Given the description of an element on the screen output the (x, y) to click on. 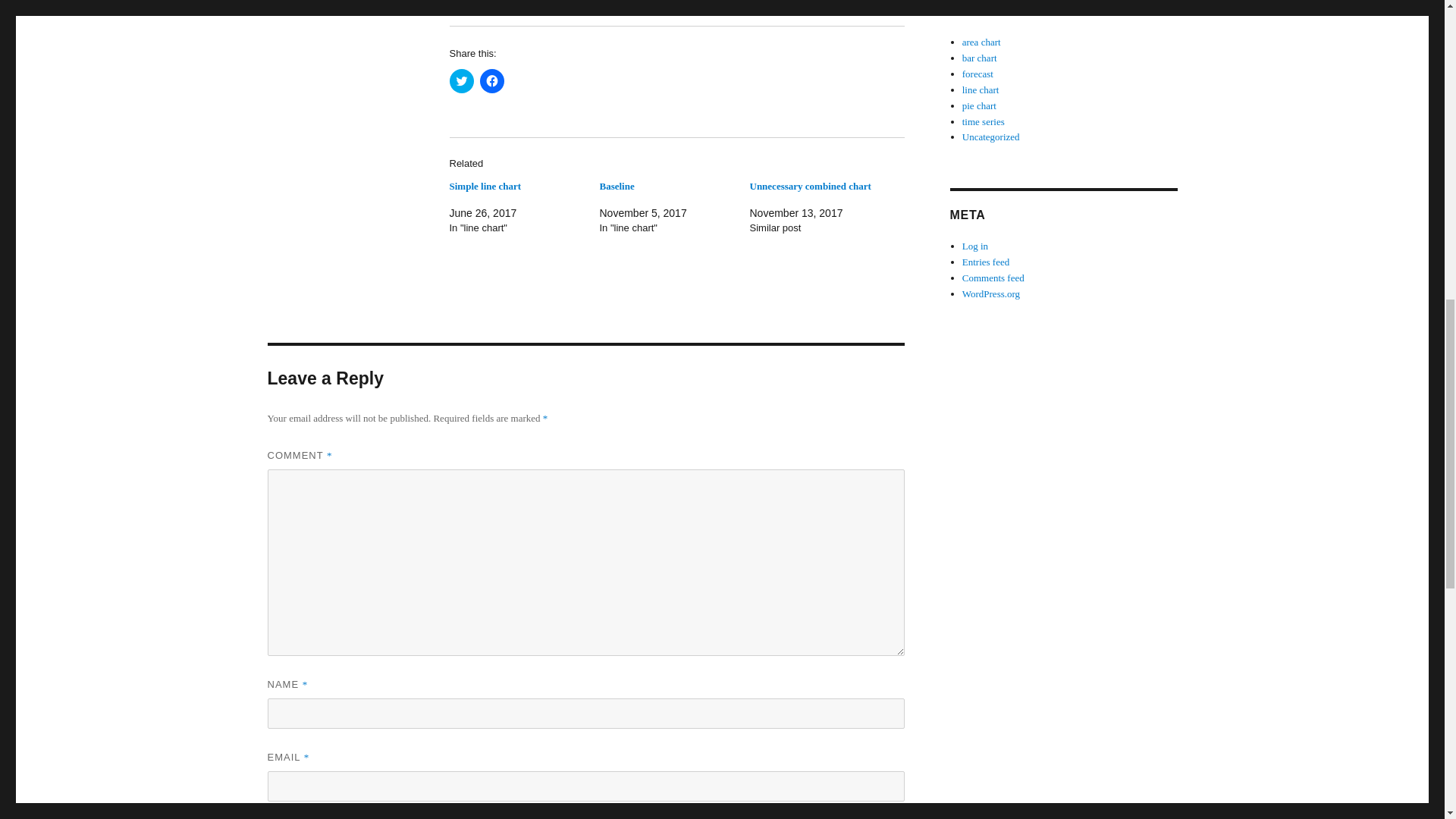
Click to share on Twitter (460, 80)
Baseline (615, 185)
Simple line chart (484, 185)
area chart (981, 41)
Unnecessary combined chart (809, 185)
Click to share on Facebook (491, 80)
Baseline (615, 185)
Simple line chart (484, 185)
Unnecessary combined chart (809, 185)
bar chart (979, 57)
